Given the description of an element on the screen output the (x, y) to click on. 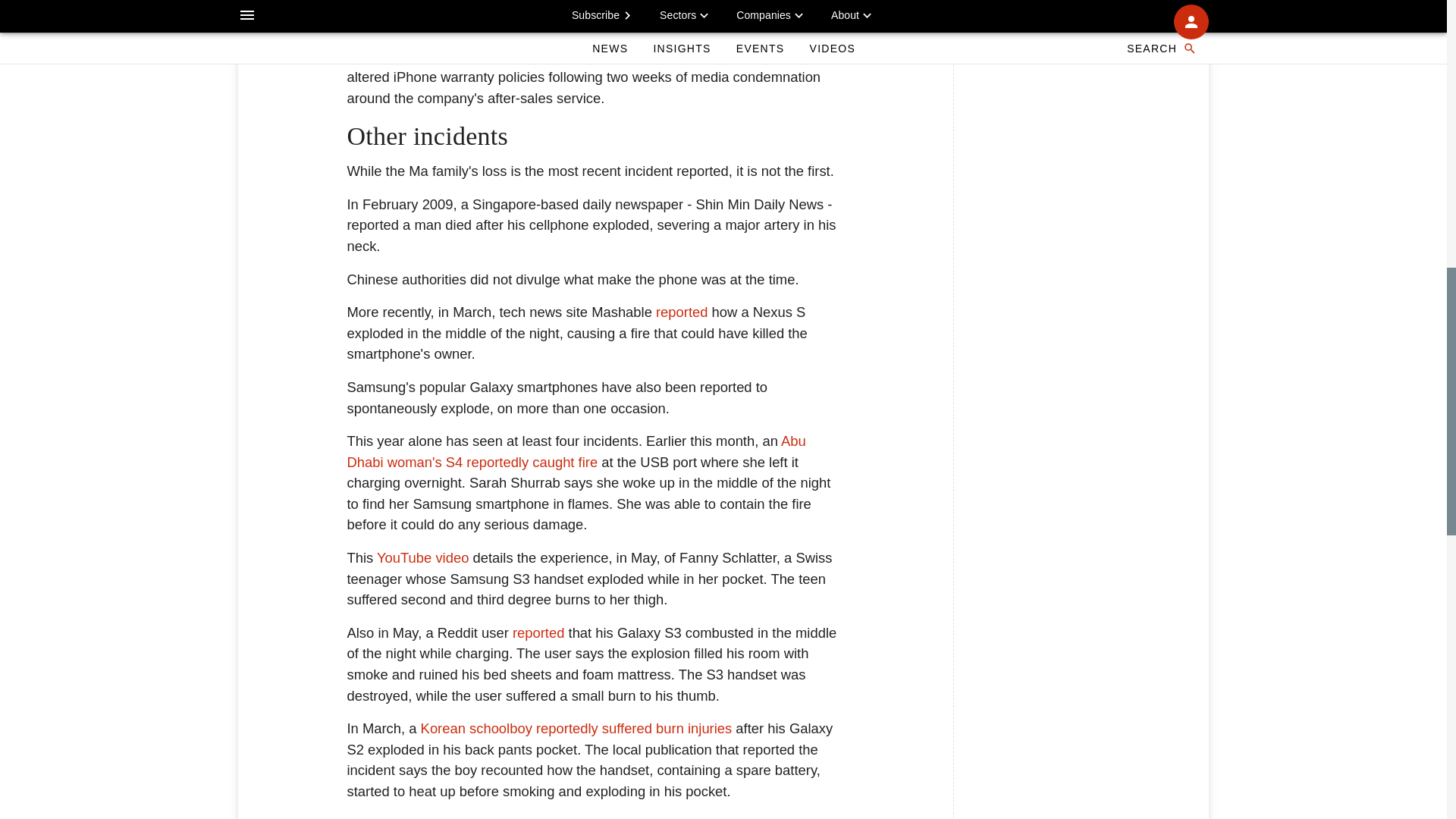
reported (681, 311)
Korean schoolboy reportedly suffered burn injuries (576, 728)
Abu Dhabi woman's S4 reportedly caught fire (576, 451)
reported (538, 632)
YouTube video (422, 557)
reported in February (576, 817)
